Given the description of an element on the screen output the (x, y) to click on. 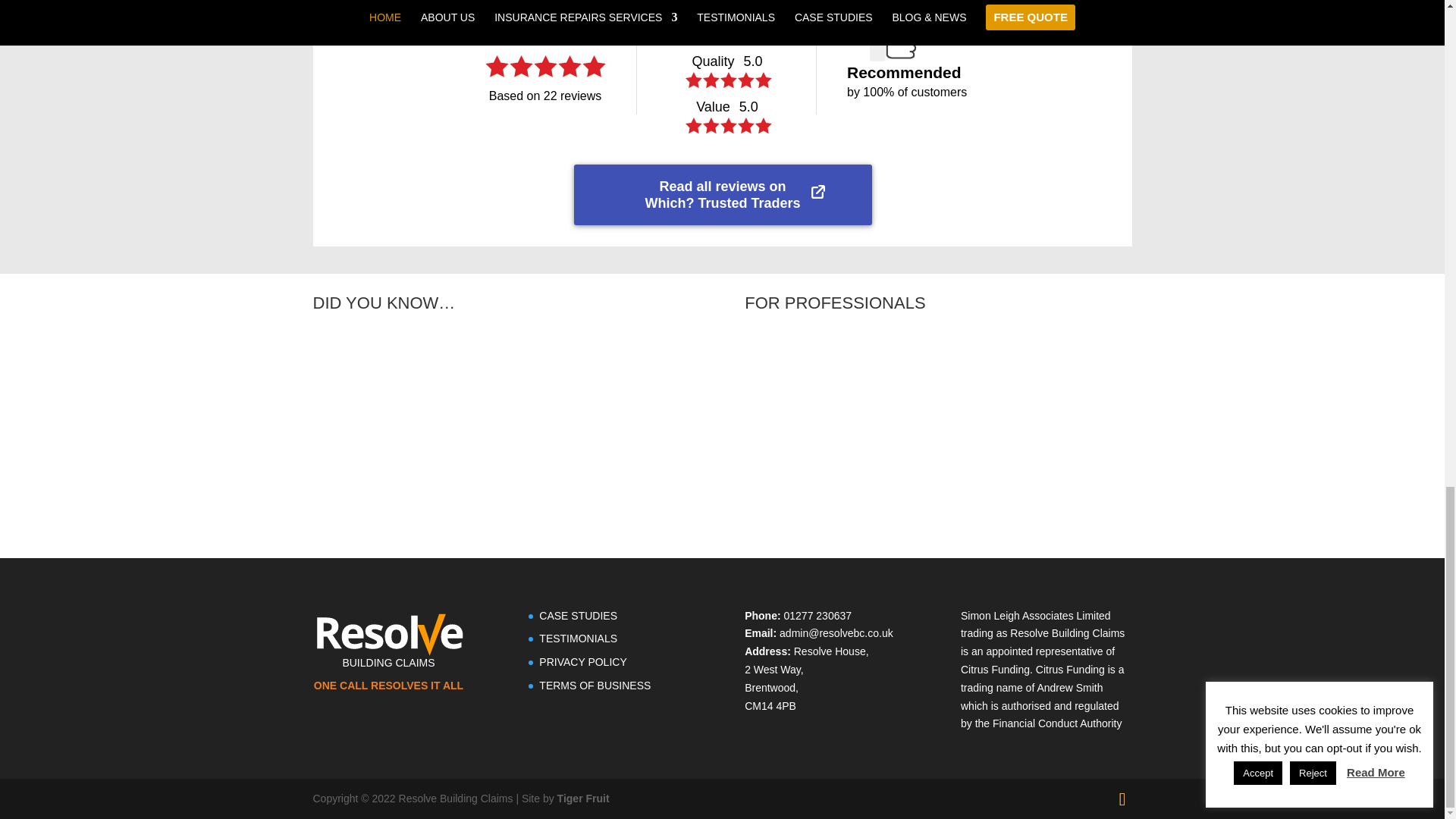
TERMS OF BUSINESS (594, 685)
CASE STUDIES (577, 615)
TESTIMONIALS (577, 638)
Tiger Fruit (583, 798)
PRIVACY POLICY (582, 662)
